Given the description of an element on the screen output the (x, y) to click on. 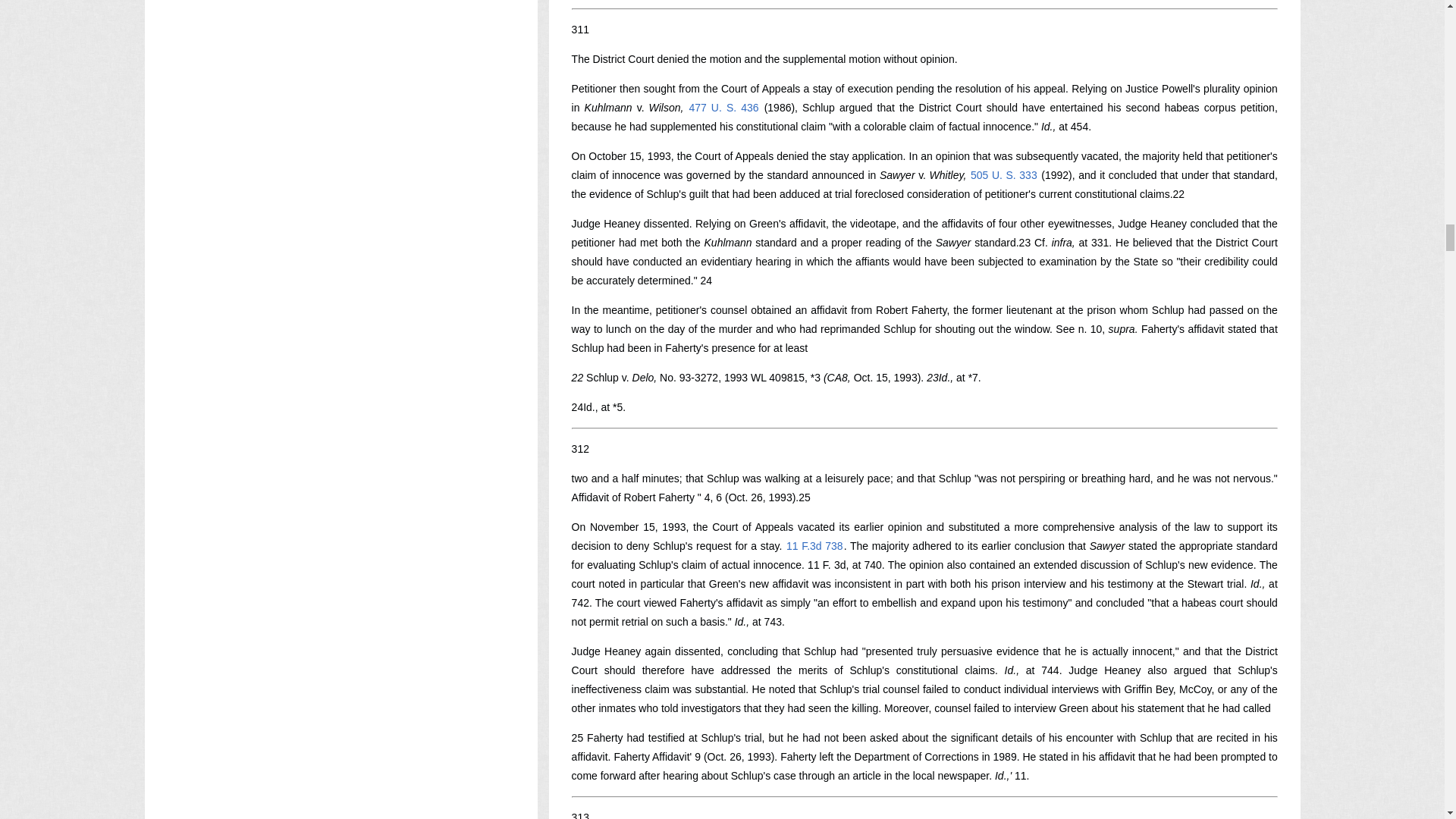
477 U. S. 436 (722, 107)
312 (580, 449)
11 F.3d 738 (815, 545)
311 (580, 29)
505 U. S. 333 (1003, 174)
313 (580, 815)
